Given the description of an element on the screen output the (x, y) to click on. 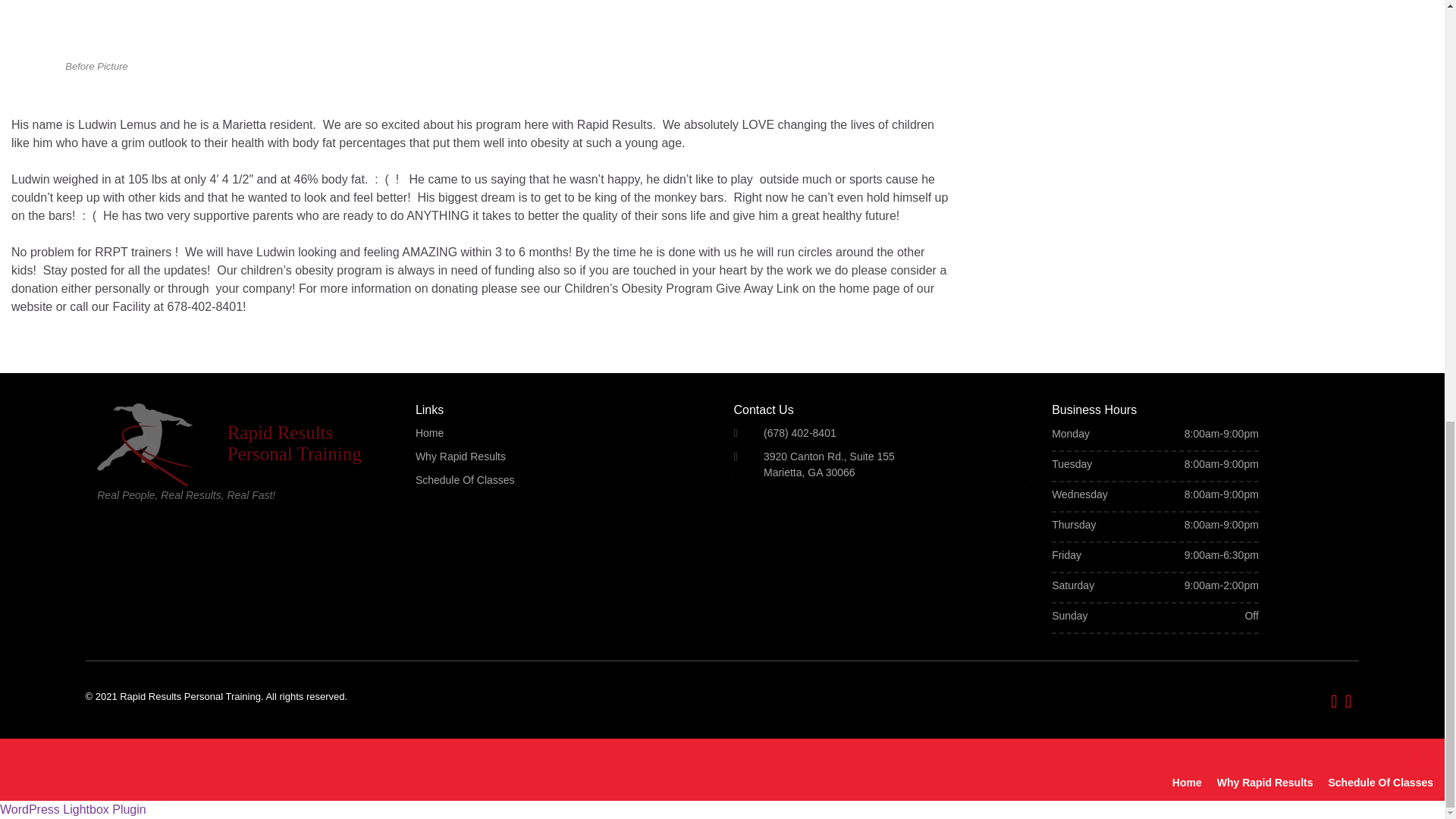
Visit Rapid Results Personal Training's Instagram page (1429, 756)
WordPress Lightbox Plugin (73, 809)
Visit Rapid Results Personal Training's Facebook page (1334, 699)
Visit Rapid Results Personal Training's Instagram page (1348, 699)
Visit Rapid Results Personal Training's Facebook page (1415, 756)
